Given the description of an element on the screen output the (x, y) to click on. 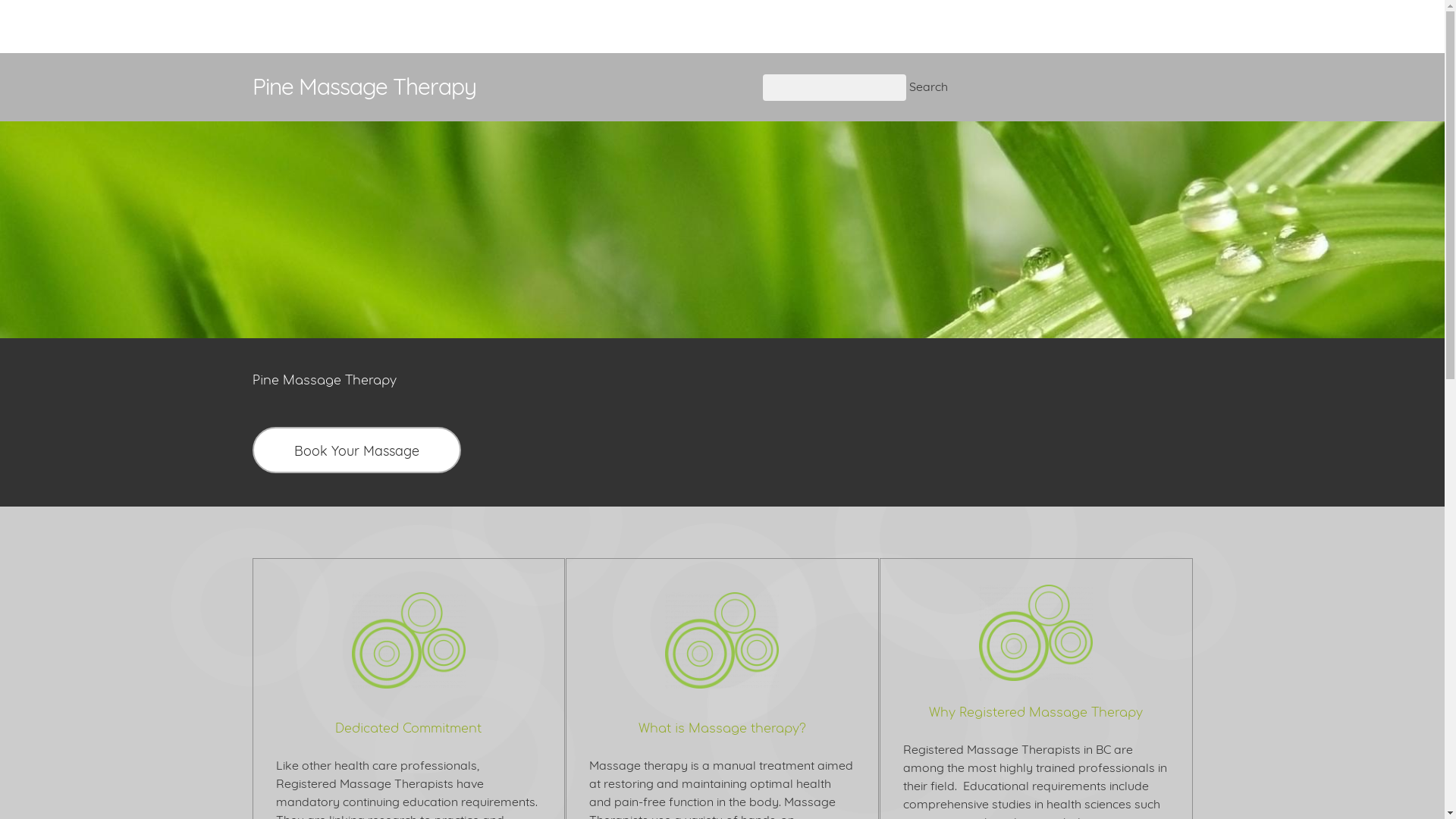
Go to site home page (497, 85)
Pine Massage Therapy (497, 85)
Book Your Massage (355, 448)
Search (927, 86)
